Given the description of an element on the screen output the (x, y) to click on. 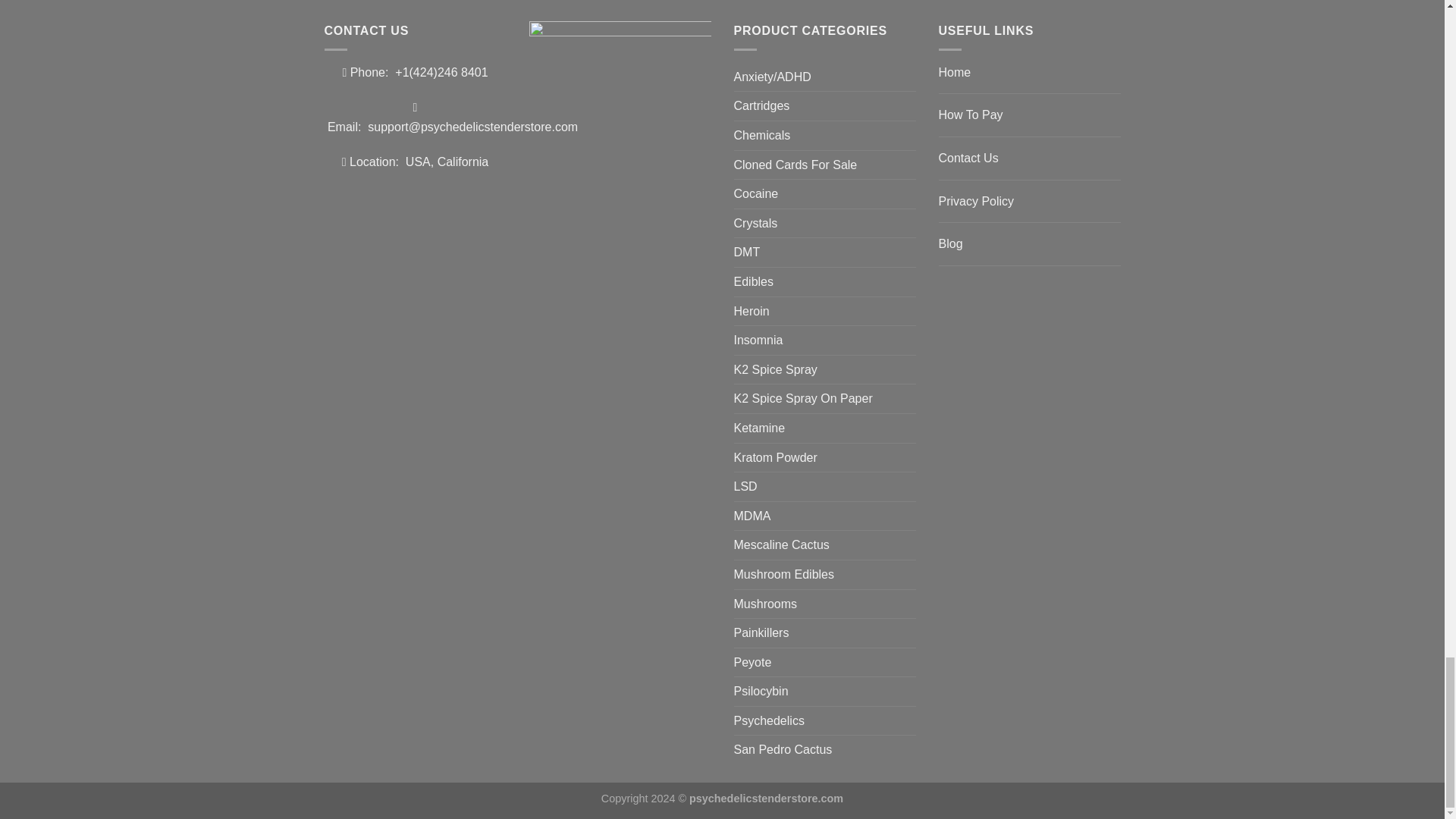
Cloned Cards For Sale (824, 164)
Chemicals (824, 135)
Cocaine (824, 193)
Crystals (824, 223)
DMT (824, 252)
Ketamine (824, 428)
Insomnia (824, 339)
K2 Spice Spray (824, 369)
Cartridges (824, 105)
K2 Spice Spray On Paper (824, 398)
